Given the description of an element on the screen output the (x, y) to click on. 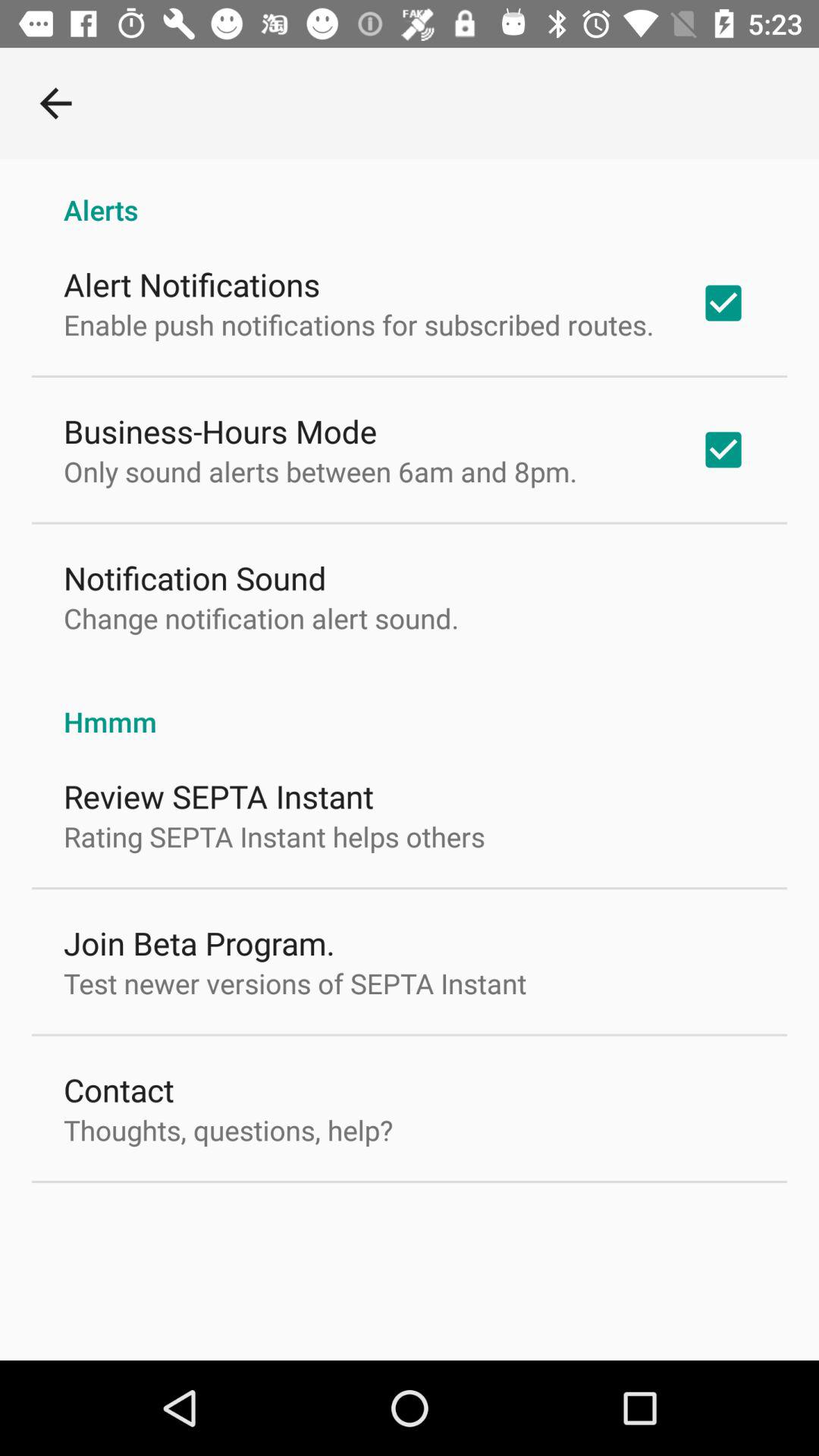
click business-hours mode (220, 430)
